Given the description of an element on the screen output the (x, y) to click on. 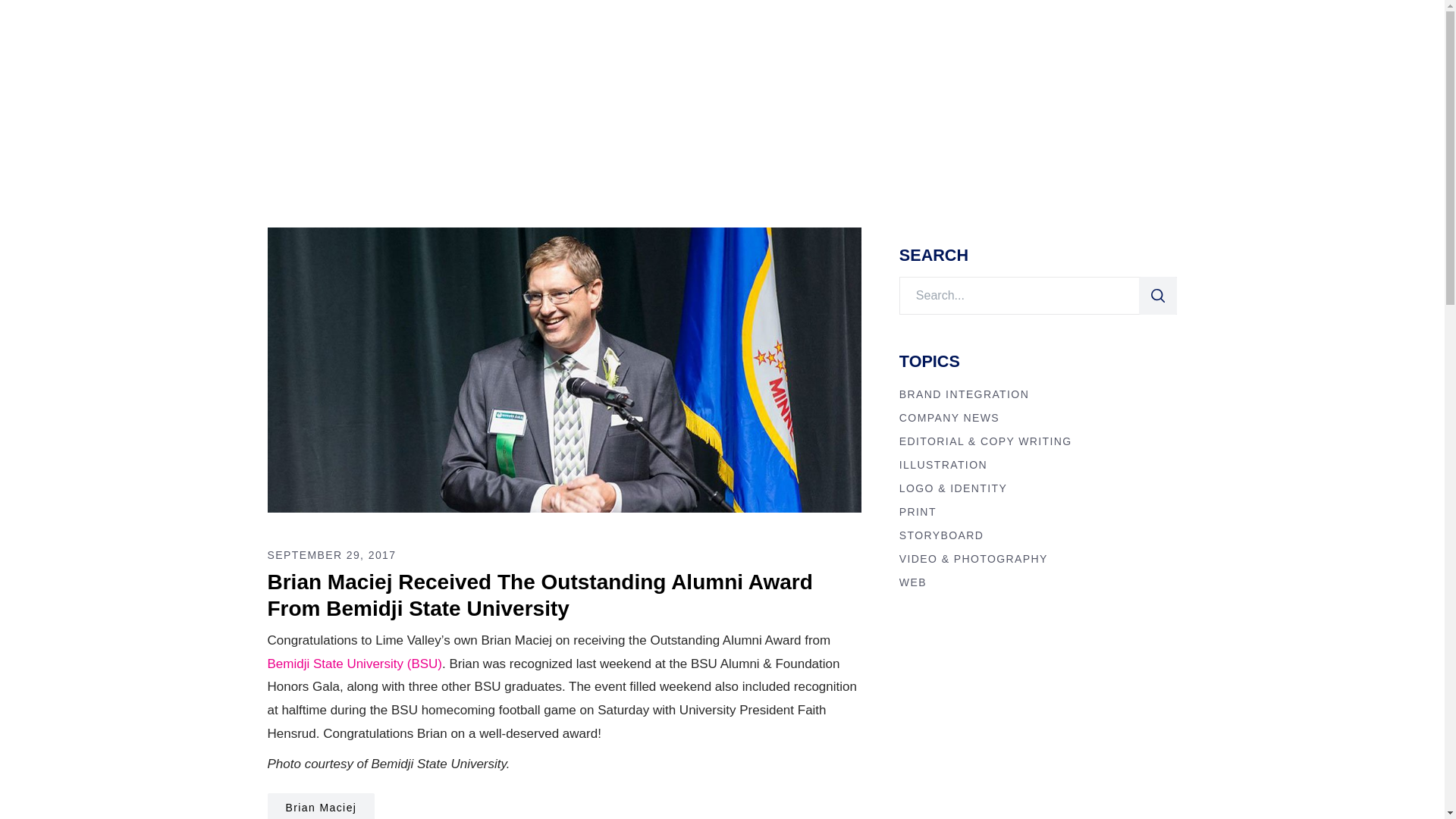
SEPTEMBER 29, 2017 (331, 554)
Brian Maciej (320, 806)
Search for: (1018, 295)
